Given the description of an element on the screen output the (x, y) to click on. 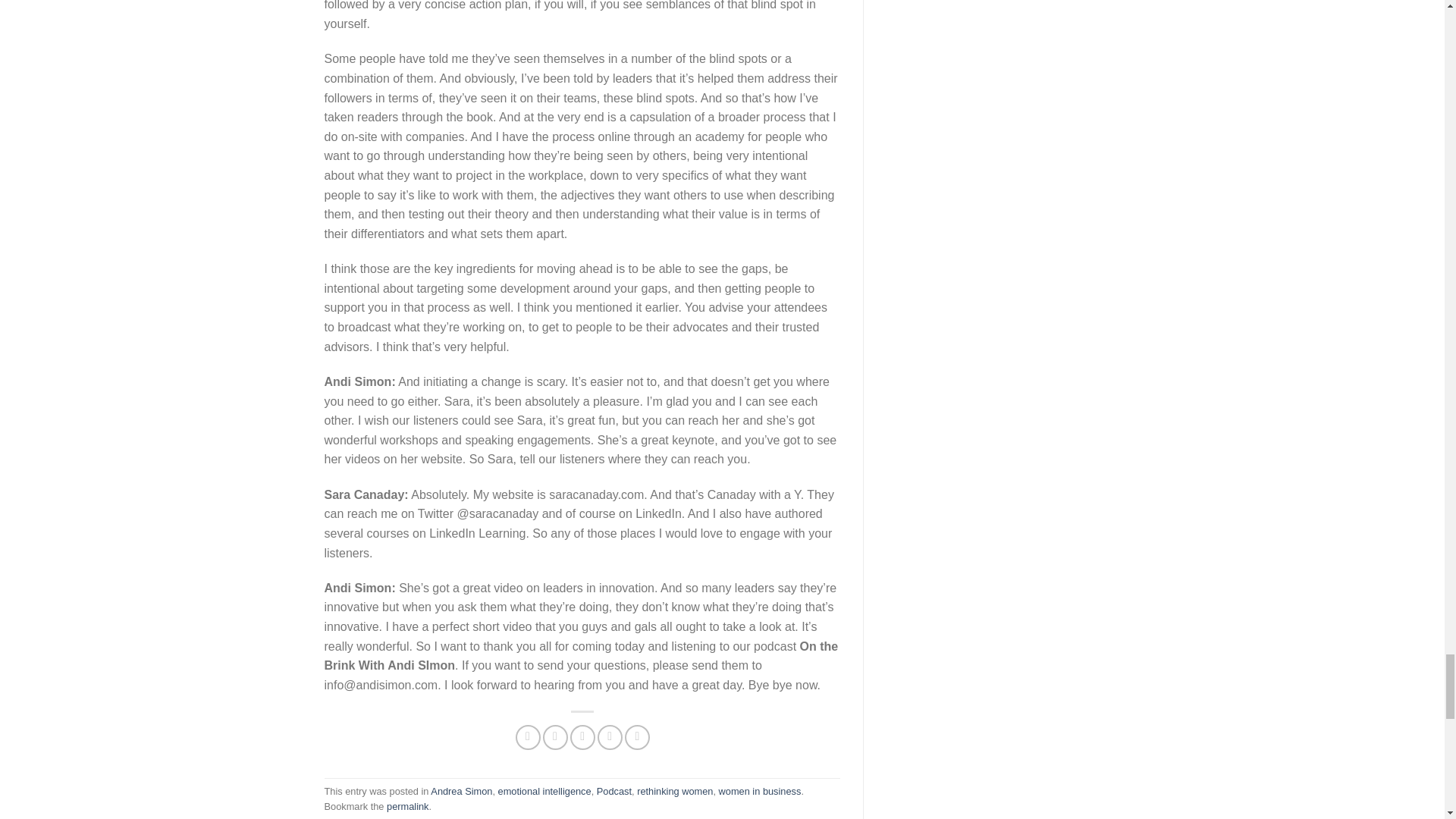
Share on LinkedIn (636, 737)
Email to a Friend (582, 737)
Share on Twitter (555, 737)
Share on Facebook (527, 737)
Pin on Pinterest (609, 737)
